Given the description of an element on the screen output the (x, y) to click on. 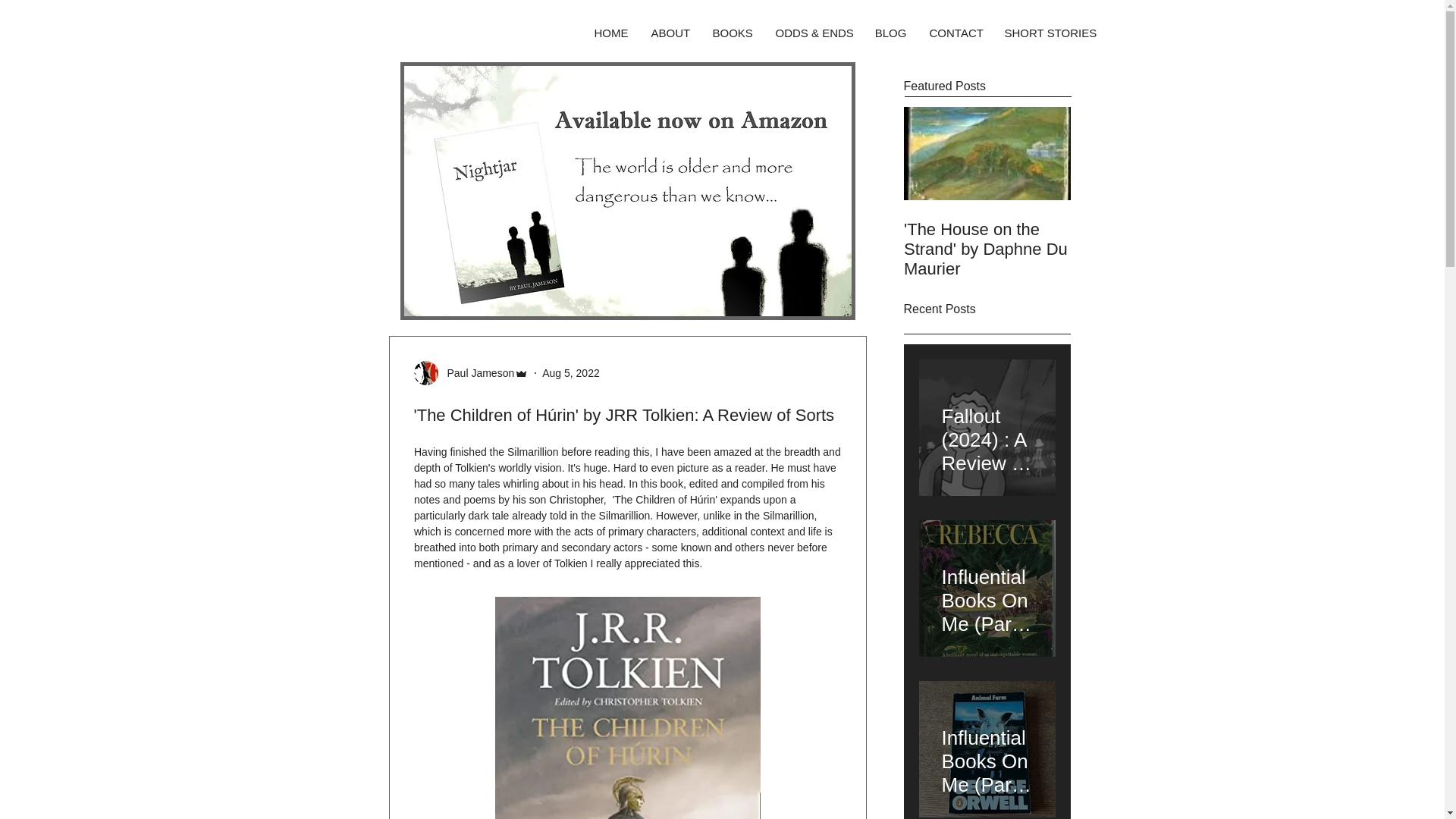
Aug 5, 2022 (570, 372)
SHORT STORIES (1047, 32)
Paul Jameson (476, 373)
ABOUT (670, 32)
'The House on the Strand' by Daphne Du Maurier (987, 249)
CONTACT (954, 32)
BLOG (890, 32)
HOME (610, 32)
BOOKS (731, 32)
